Given the description of an element on the screen output the (x, y) to click on. 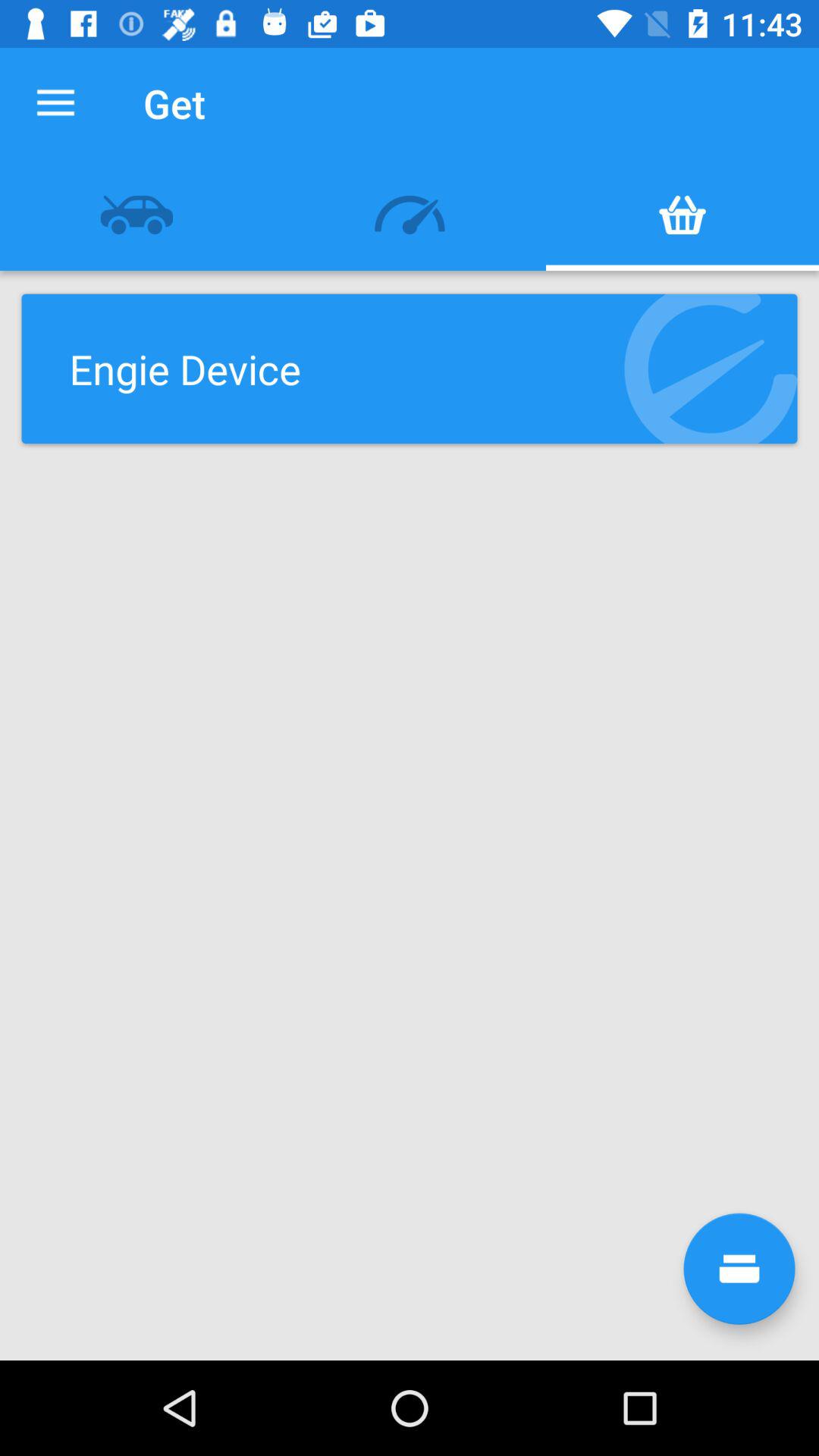
turn off the icon next to the get icon (55, 103)
